Given the description of an element on the screen output the (x, y) to click on. 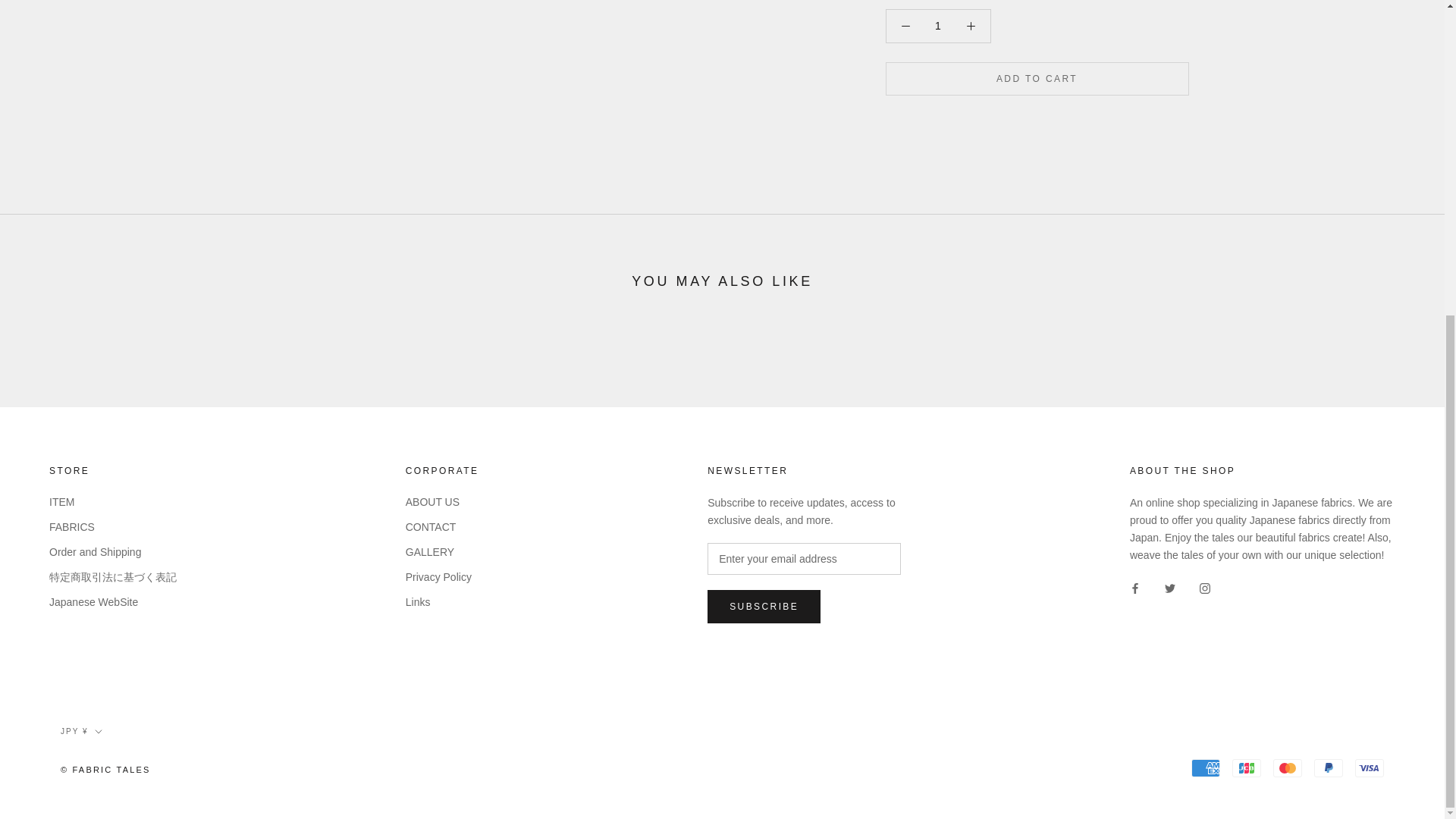
PayPal (1328, 768)
1 (938, 0)
American Express (1205, 768)
Visa (1369, 768)
JCB (1245, 768)
Mastercard (1286, 768)
